Given the description of an element on the screen output the (x, y) to click on. 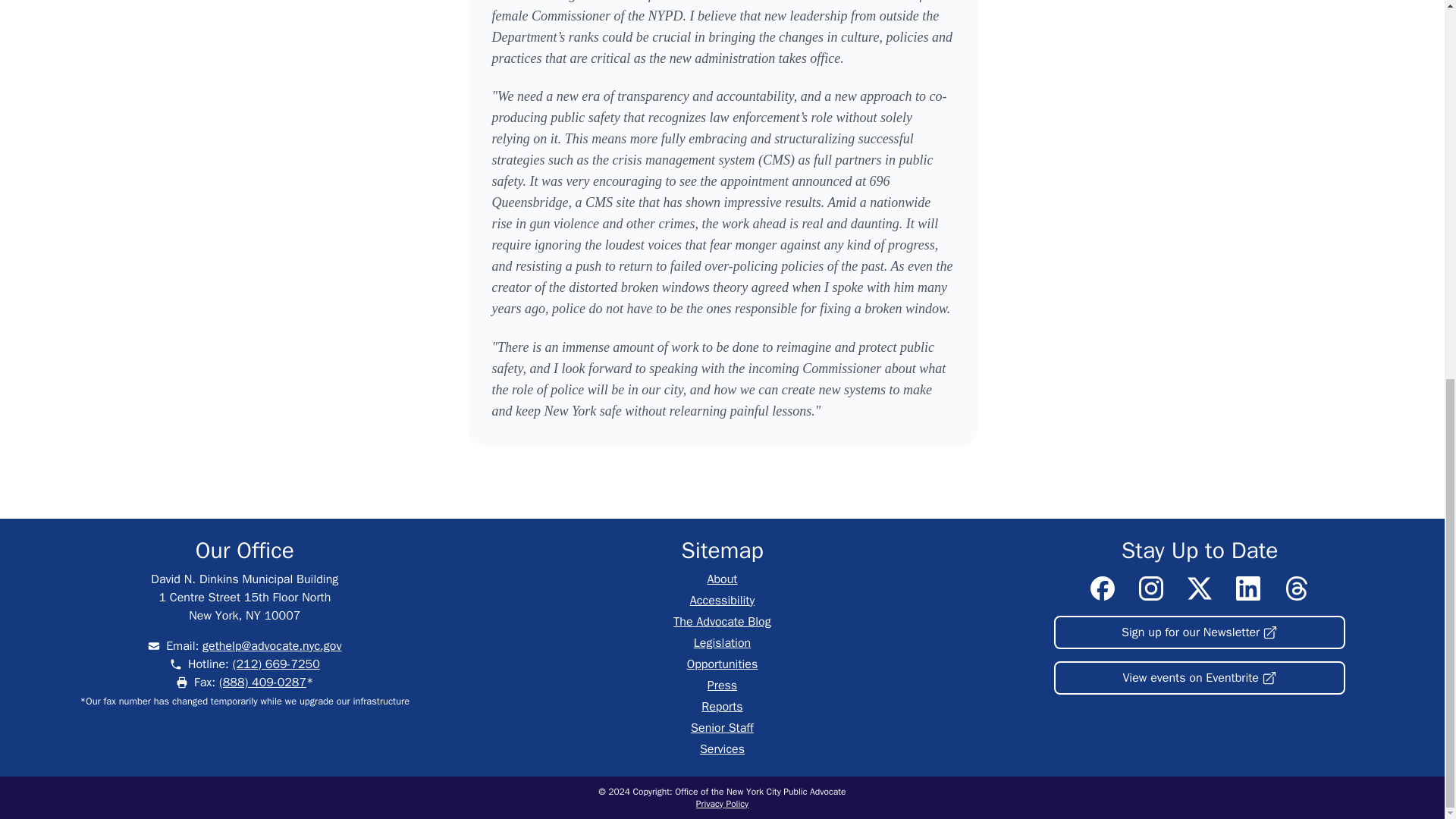
Press (721, 685)
Sign up for our Newsletter (1199, 632)
About (722, 579)
Reports (721, 706)
The Advocate Blog (721, 621)
Privacy Policy (721, 803)
View events on Eventbrite (1199, 677)
Accessibility (722, 600)
Legislation (722, 642)
Senior Staff (722, 727)
Opportunities (722, 663)
Services (722, 749)
